Given the description of an element on the screen output the (x, y) to click on. 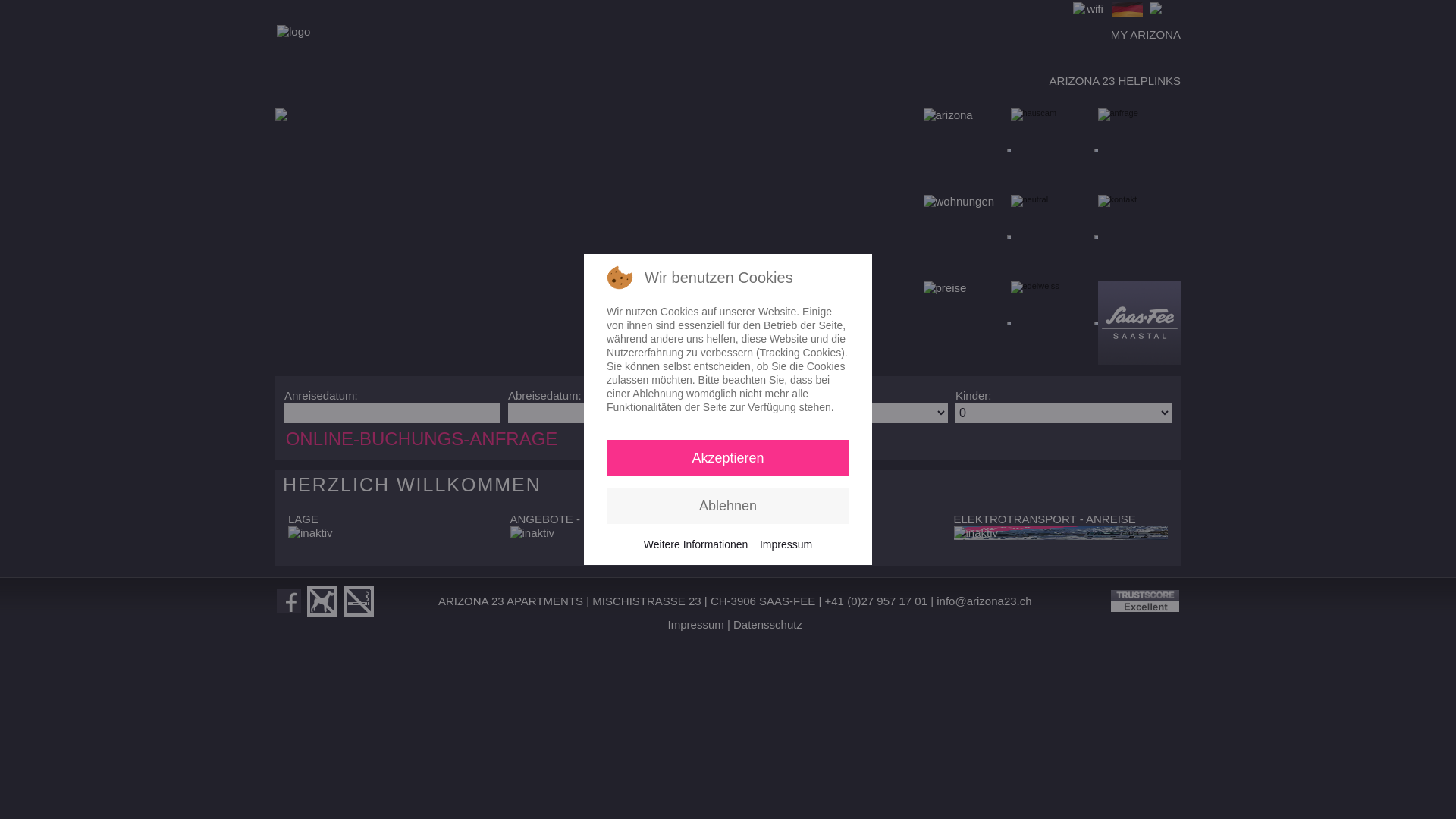
MY ARIZONA Element type: text (1145, 34)
info@arizona23.ch Element type: text (983, 600)
Impressum Element type: text (785, 544)
Impressum Element type: text (696, 624)
ARIZONA 23 HELPLINKS Element type: text (1114, 80)
Weitere Informationen Element type: text (695, 544)
Ablehnen Element type: text (727, 505)
Datensschutz Element type: text (767, 624)
SENDEN Element type: text (683, 568)
Akzeptieren Element type: text (727, 457)
